Given the description of an element on the screen output the (x, y) to click on. 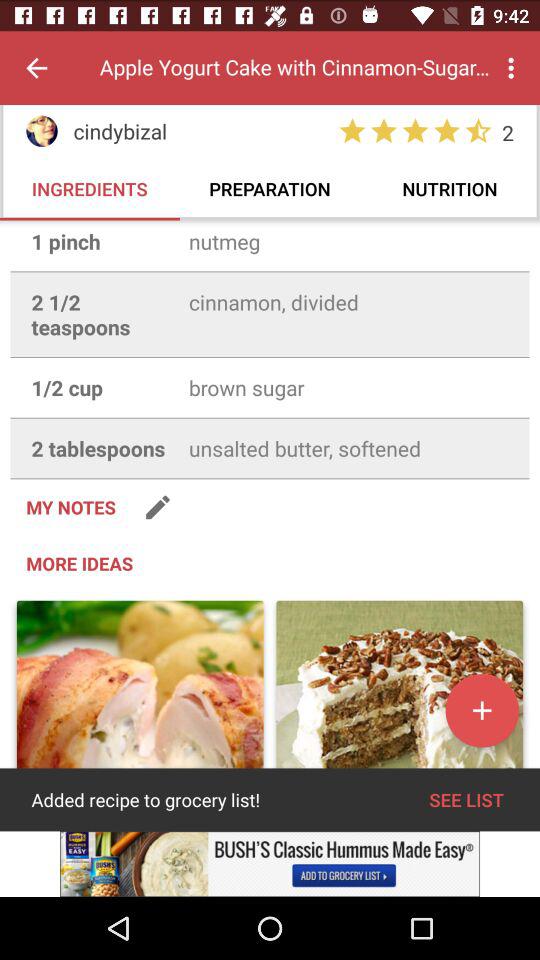
select the symbol beside 2 (478, 131)
click on added recipe to grocery list button (140, 706)
select the profile left to cindybizal (41, 131)
select the second star under ratings (383, 131)
click on menu button (514, 68)
click on the first star (351, 131)
